Given the description of an element on the screen output the (x, y) to click on. 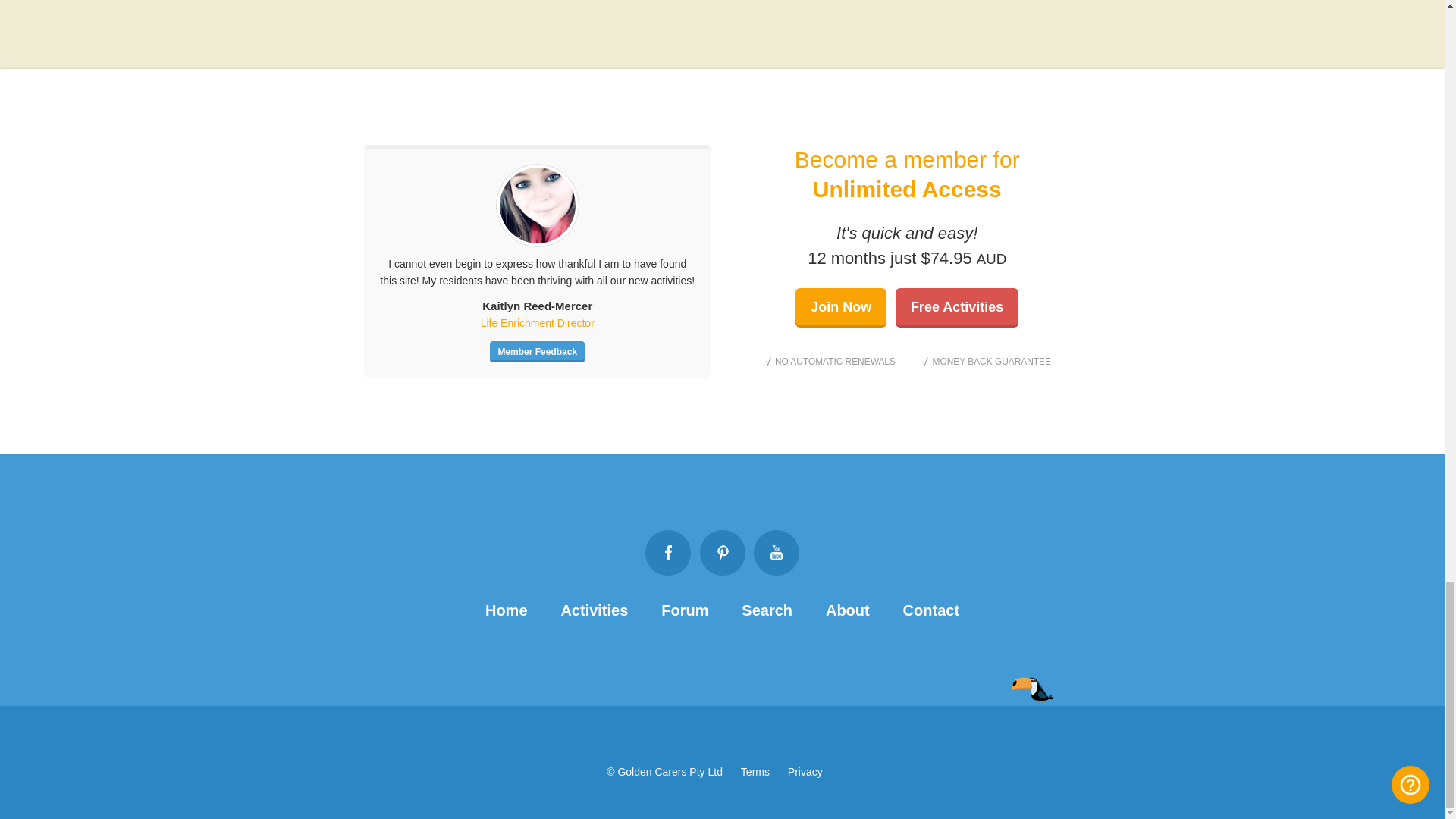
Home (505, 610)
Free Activities (956, 307)
Activities (593, 610)
Join Golden Carers! (840, 307)
Golden Carers Testimonials (537, 351)
Member Feedback (537, 351)
Join Now (840, 307)
